Given the description of an element on the screen output the (x, y) to click on. 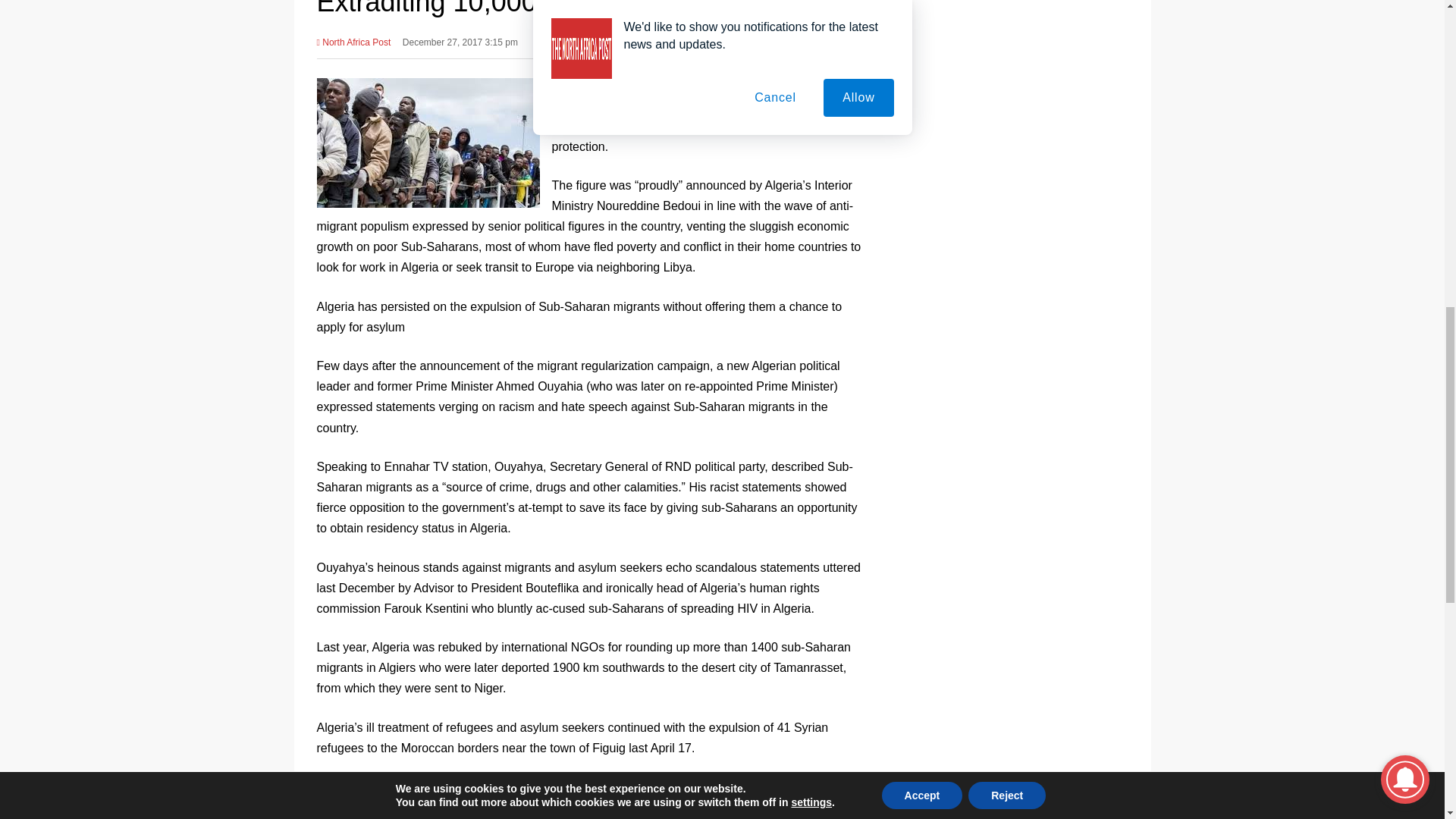
Linkedin (857, 38)
Pinterest (830, 38)
Facebook (778, 38)
Twitter (805, 38)
